Given the description of an element on the screen output the (x, y) to click on. 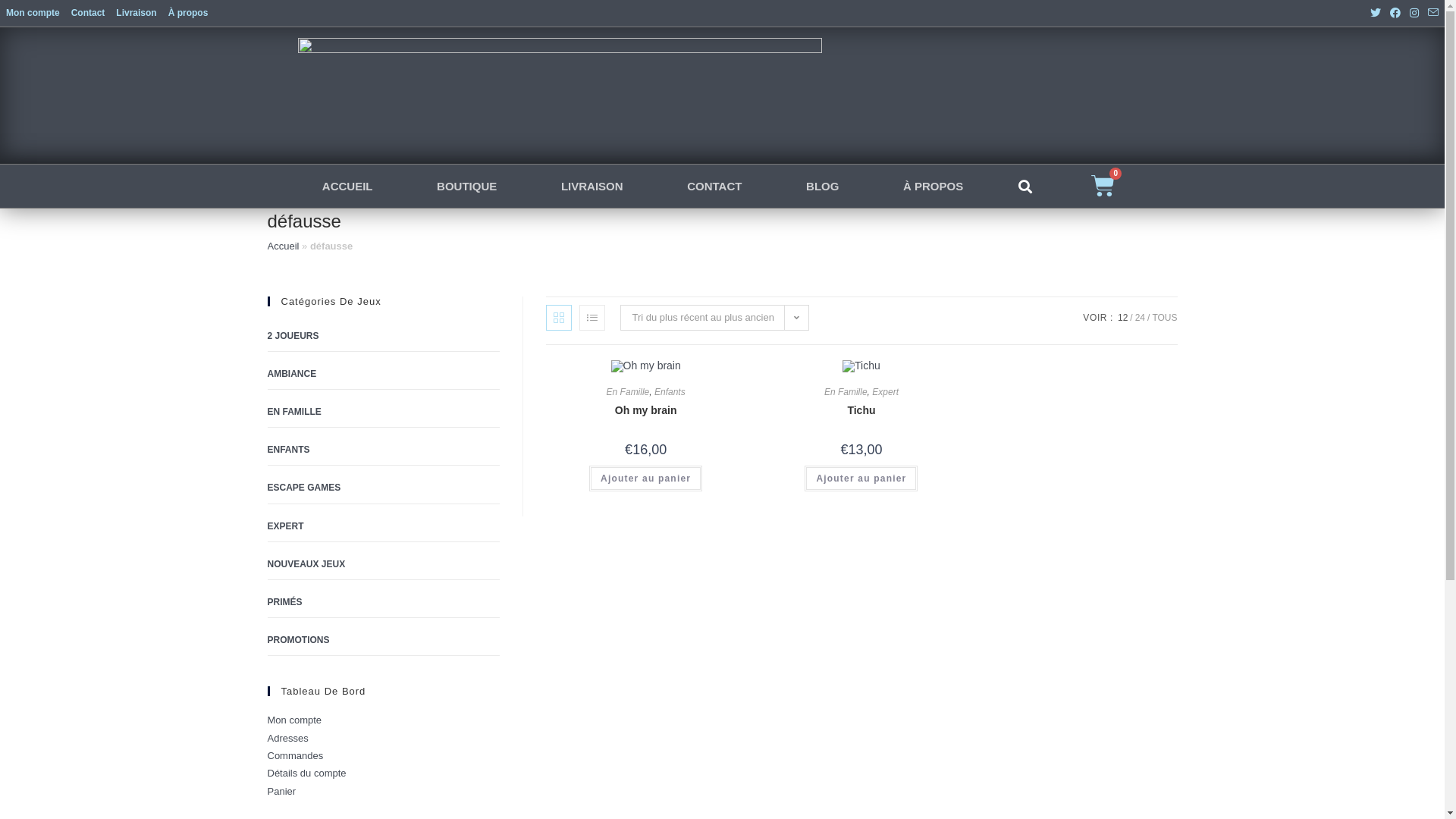
Vue en liste Element type: hover (592, 317)
0 Element type: text (1102, 185)
Mon compte Element type: text (293, 719)
24 Element type: text (1140, 317)
ENFANTS Element type: text (382, 450)
PROMOTIONS Element type: text (382, 640)
12 Element type: text (1122, 317)
LIVRAISON Element type: text (592, 186)
Mon compte Element type: text (32, 12)
Vue en grille Element type: hover (558, 317)
AMBIANCE Element type: text (382, 374)
ACCUEIL Element type: text (346, 186)
Expert Element type: text (885, 391)
Panier Element type: text (280, 791)
En Famille Element type: text (627, 391)
NOUVEAUX JEUX Element type: text (382, 564)
Accueil Element type: text (282, 245)
Tichu Element type: text (861, 410)
EXPERT Element type: text (382, 526)
Oh my brain Element type: text (646, 410)
BLOG Element type: text (822, 186)
Ajouter au panier Element type: text (645, 478)
Ajouter au panier Element type: text (860, 478)
ESCAPE GAMES Element type: text (382, 488)
Adresses Element type: text (286, 737)
CONTACT Element type: text (714, 186)
Livraison Element type: text (136, 12)
2 JOUEURS Element type: text (382, 336)
Enfants Element type: text (669, 391)
BOUTIQUE Element type: text (466, 186)
En Famille Element type: text (845, 391)
Commandes Element type: text (294, 755)
Contact Element type: text (88, 12)
TOUS Element type: text (1163, 317)
EN FAMILLE Element type: text (382, 412)
